Given the description of an element on the screen output the (x, y) to click on. 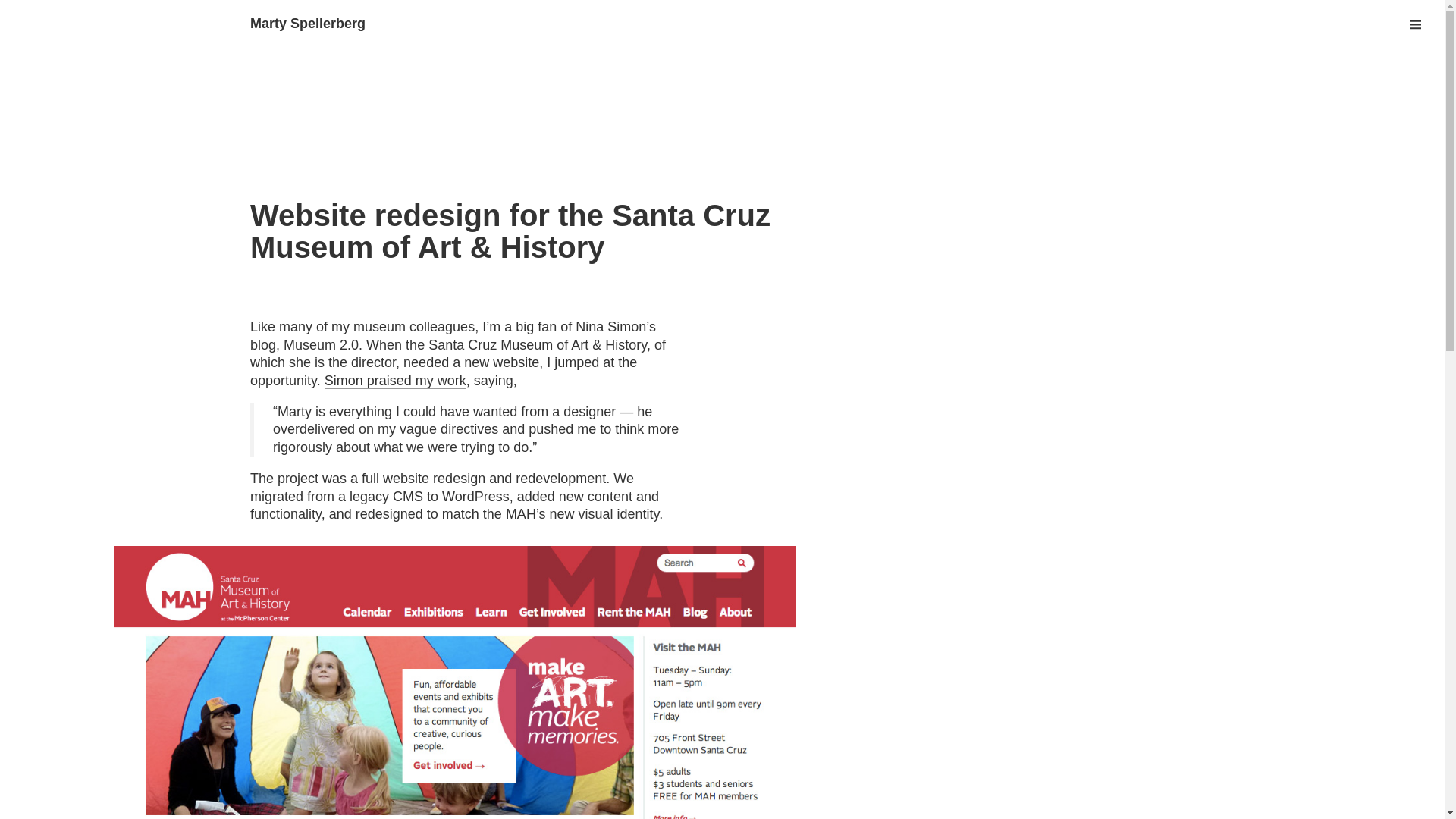
Marty Spellerberg (307, 23)
Museum 2.0 (320, 344)
Simon praised my work (394, 381)
